Given the description of an element on the screen output the (x, y) to click on. 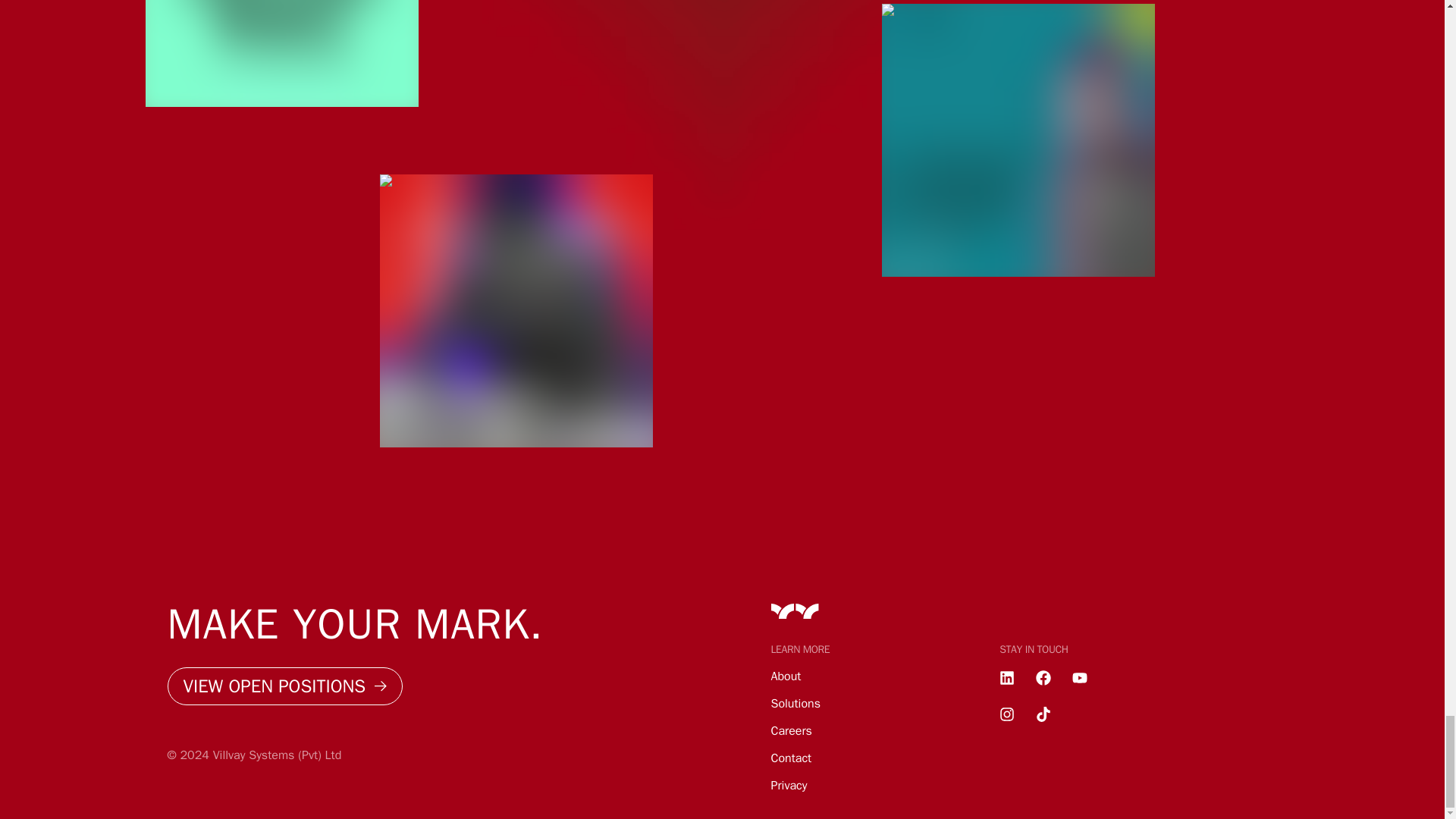
Contact (790, 758)
Privacy (788, 785)
About (785, 676)
VIEW OPEN POSITIONS (285, 686)
Careers (790, 730)
Solutions (794, 703)
